Given the description of an element on the screen output the (x, y) to click on. 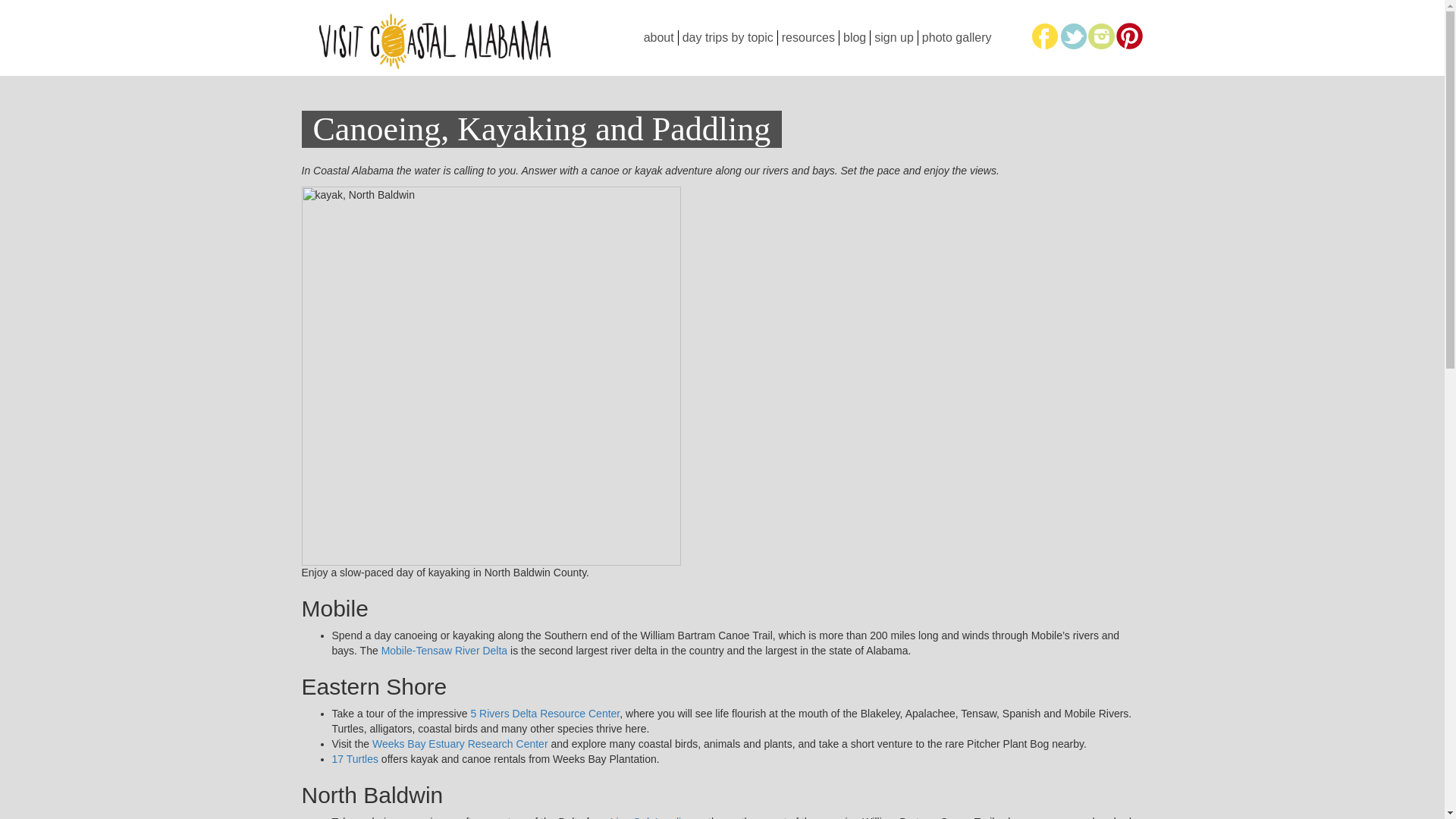
day trips by topic (727, 37)
photo gallery (956, 37)
sign up (893, 37)
about (659, 37)
Mobile-Tensaw River Delta (444, 650)
Live Oak Landing (651, 817)
blog (854, 37)
resources (807, 37)
Weeks Bay Estuary Research Center (460, 743)
5 Rivers Delta Resource Center (545, 713)
